Given the description of an element on the screen output the (x, y) to click on. 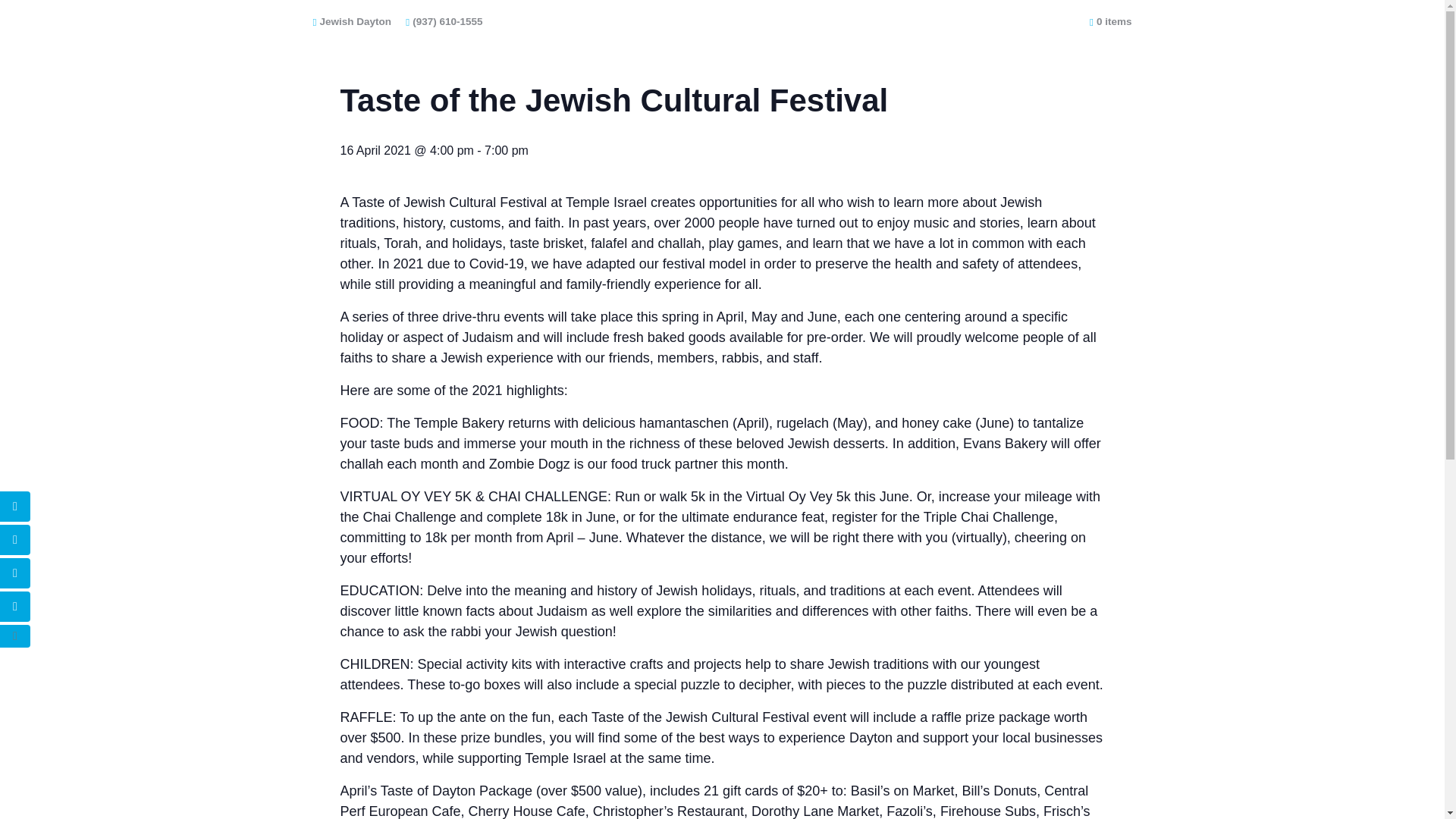
ShalomDayton (879, 21)
0 items (1110, 21)
Jewish Dayton (351, 21)
Jewish Observer (970, 21)
